Given the description of an element on the screen output the (x, y) to click on. 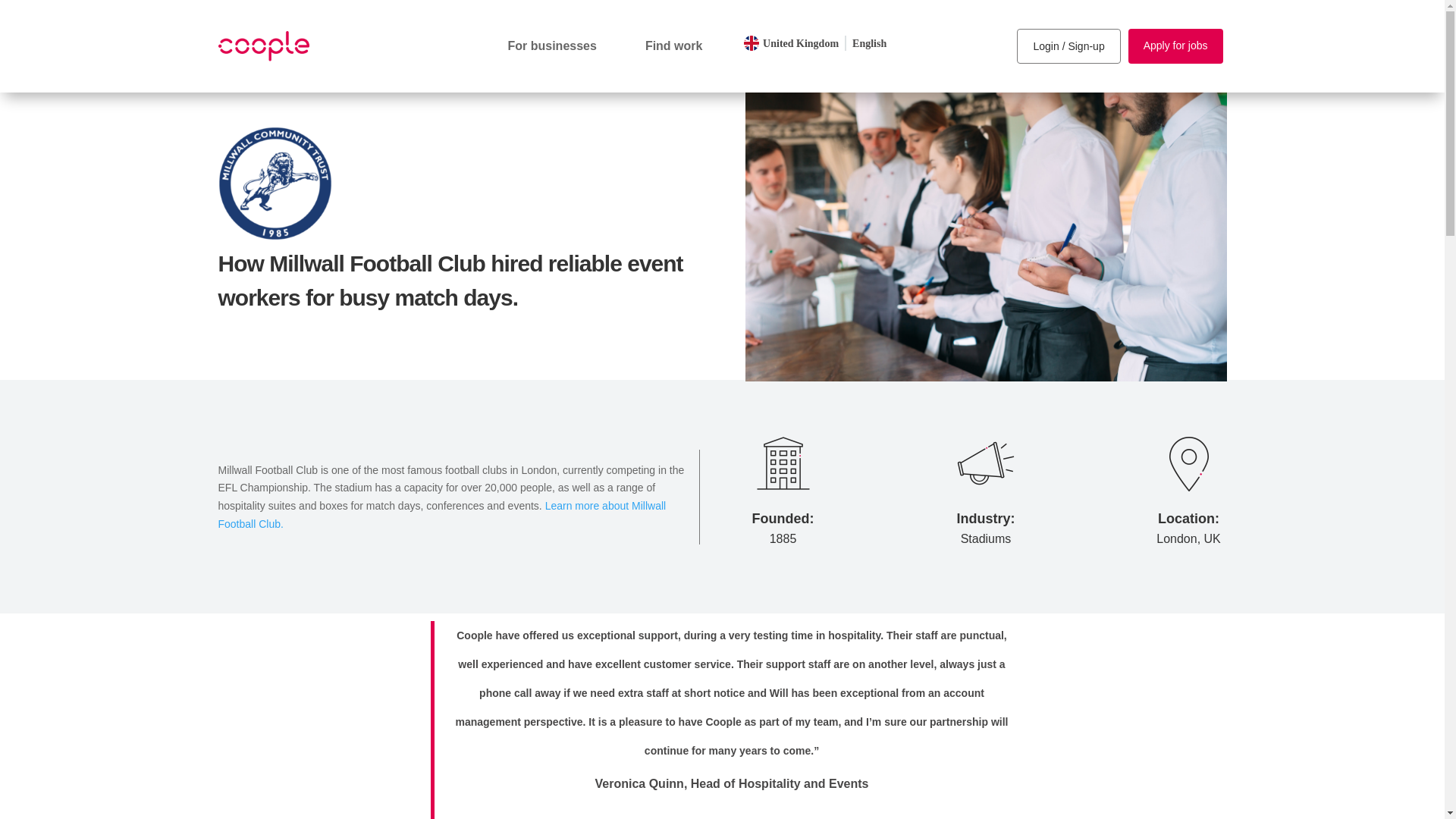
Apply for jobs (1175, 46)
